Given the description of an element on the screen output the (x, y) to click on. 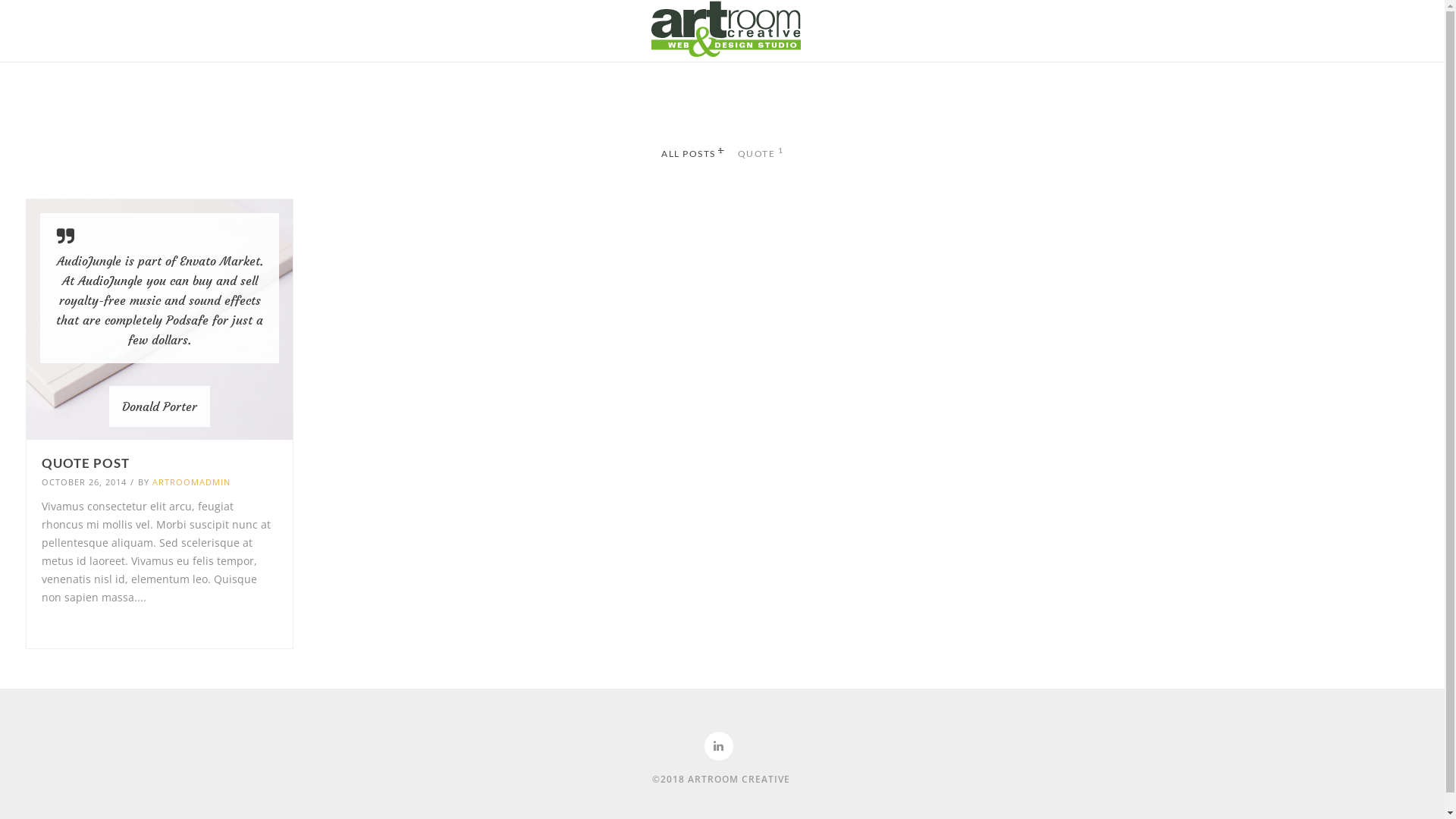
Artroom Creative Element type: hover (724, 28)
ALL POSTS 1 Element type: text (692, 153)
QUOTE 1 Element type: text (760, 153)
QUOTE POST Element type: text (159, 463)
ARTROOMADMIN Element type: text (191, 481)
